Given the description of an element on the screen output the (x, y) to click on. 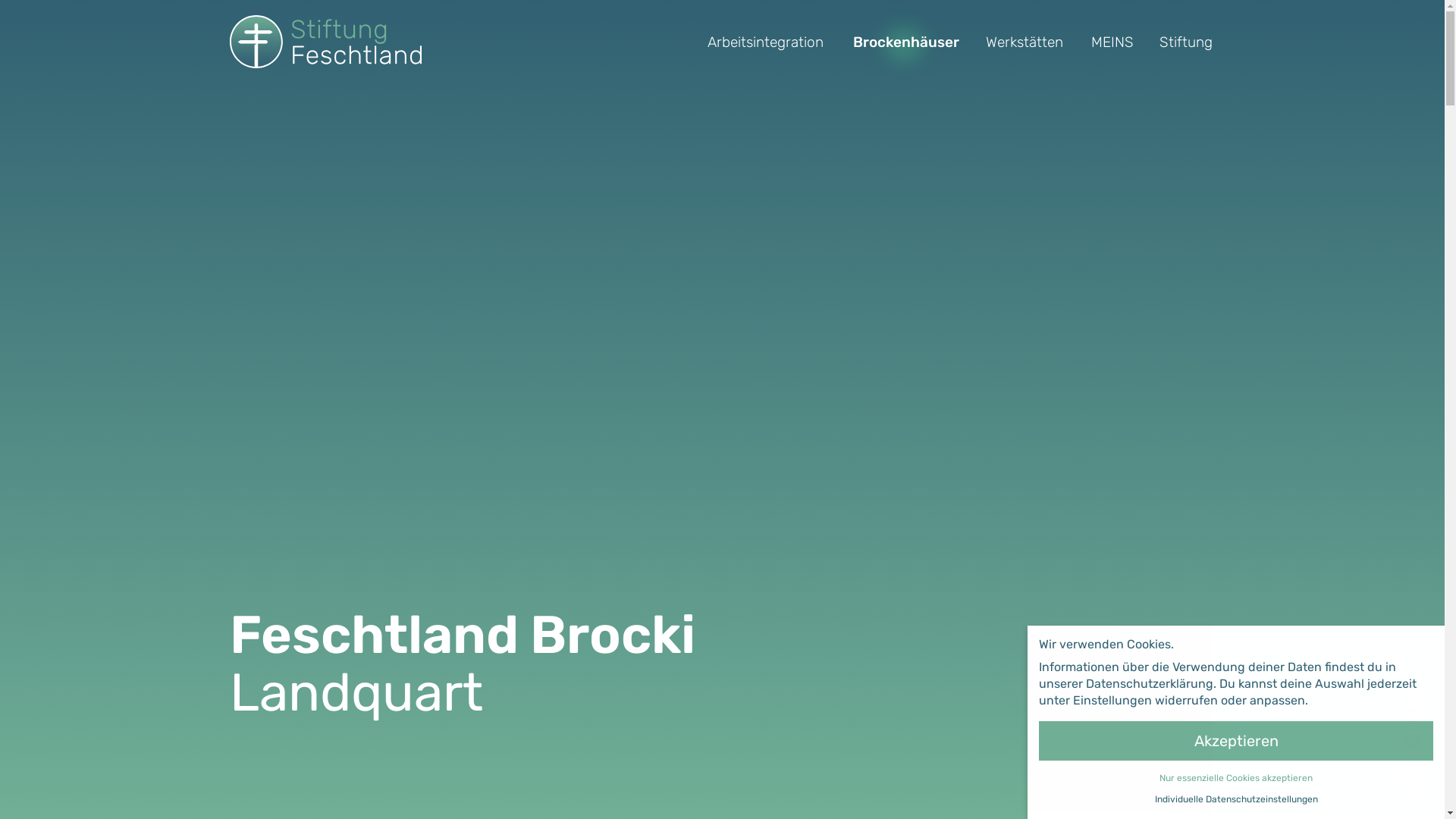
MEINS Element type: text (1112, 41)
brocki.landquart@feschtland.ch Element type: hover (1411, 741)
Stiftung Element type: text (1186, 41)
Einstellungen Element type: text (1112, 700)
Nur essenzielle Cookies akzeptieren Element type: text (1235, 777)
Stiftung Feschtland Startseite Element type: hover (324, 41)
Akzeptieren Element type: text (1235, 740)
Individuelle Datenschutzeinstellungen Element type: text (1235, 798)
